Given the description of an element on the screen output the (x, y) to click on. 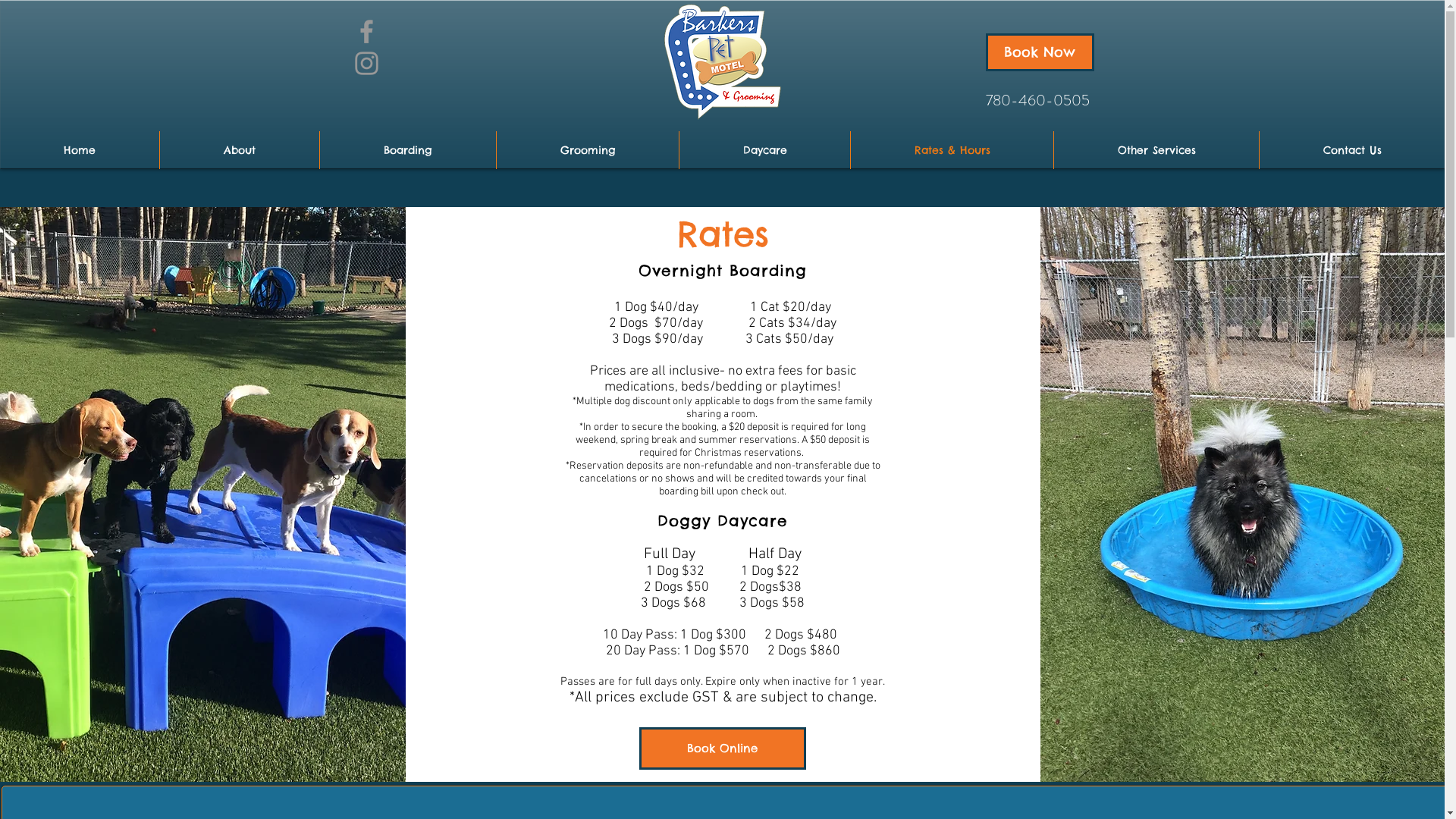
Contact Us Element type: text (1351, 150)
Book Now Element type: text (1039, 52)
Home Element type: text (79, 150)
Book Online Element type: text (722, 747)
Grooming Element type: text (587, 150)
About Element type: text (239, 150)
Daycare Element type: text (764, 150)
Rates & Hours Element type: text (951, 150)
